Given the description of an element on the screen output the (x, y) to click on. 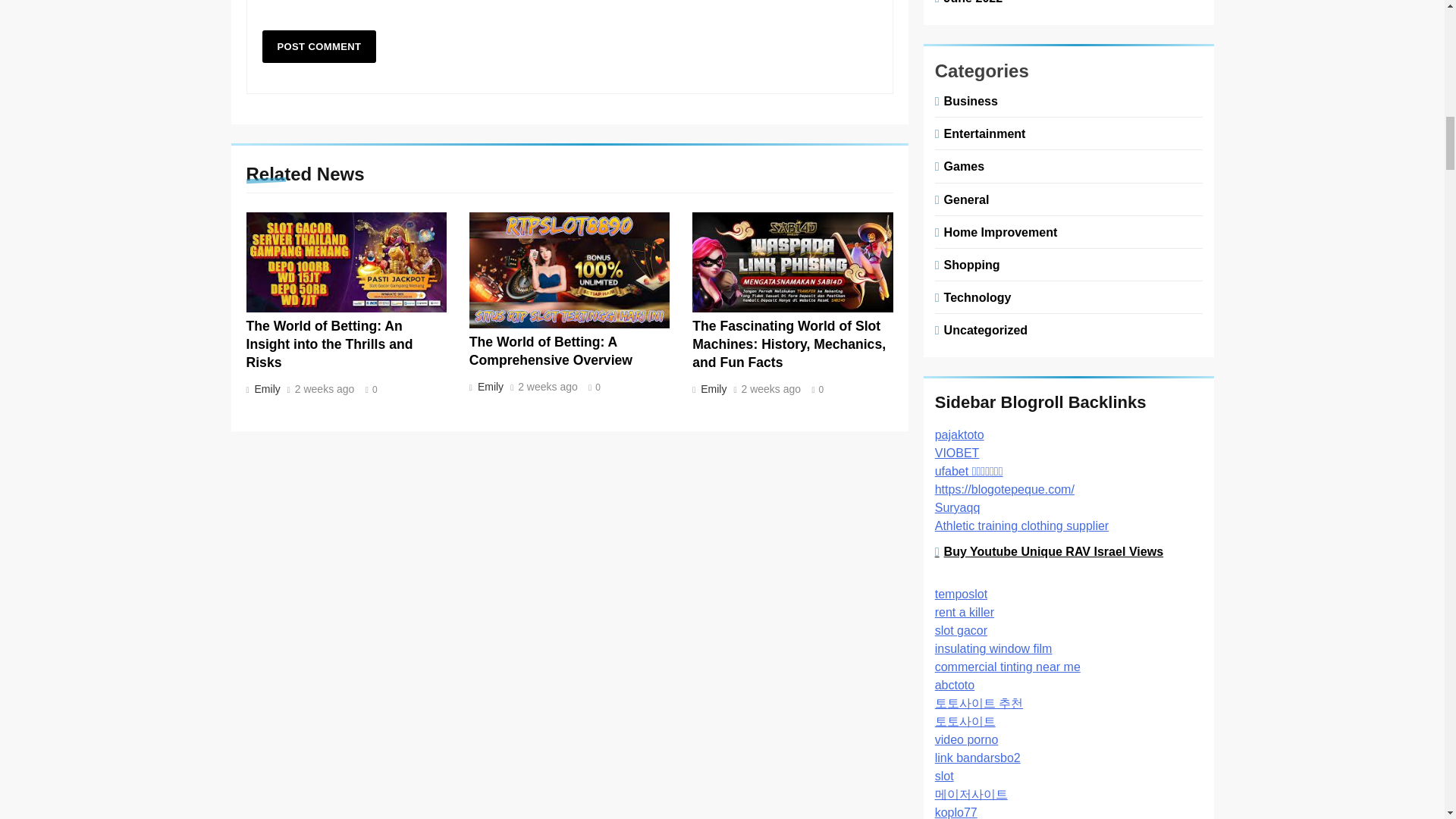
Emily (488, 386)
The World of Betting: A Comprehensive Overview (549, 350)
2 weeks ago (325, 389)
Emily (265, 388)
Post Comment (319, 46)
Emily (712, 388)
2 weeks ago (771, 389)
2 weeks ago (548, 387)
Post Comment (319, 46)
The World of Betting: An Insight into the Thrills and Risks (329, 344)
